Given the description of an element on the screen output the (x, y) to click on. 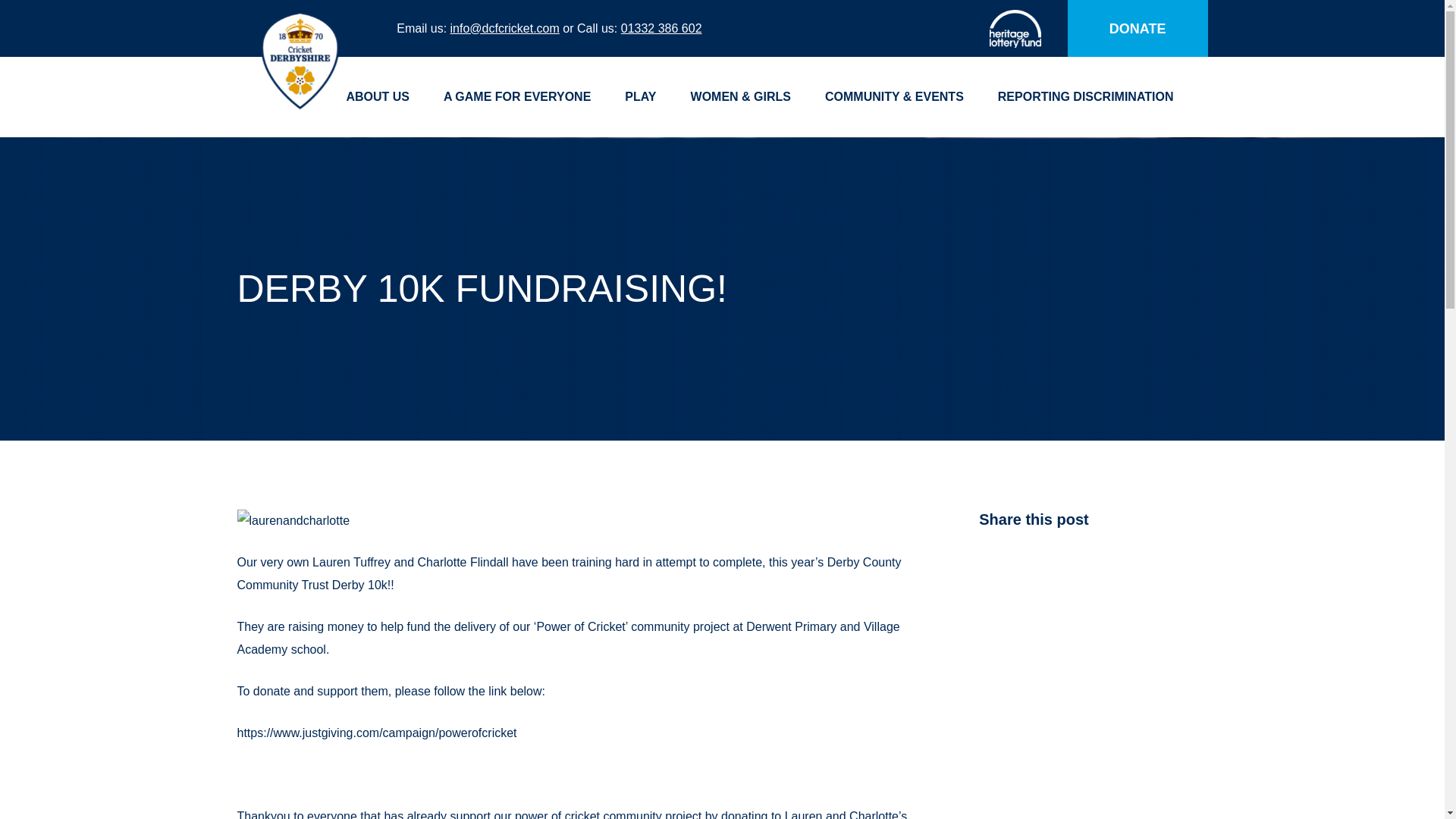
01332 386 602 (661, 27)
DONATE (1137, 28)
